Given the description of an element on the screen output the (x, y) to click on. 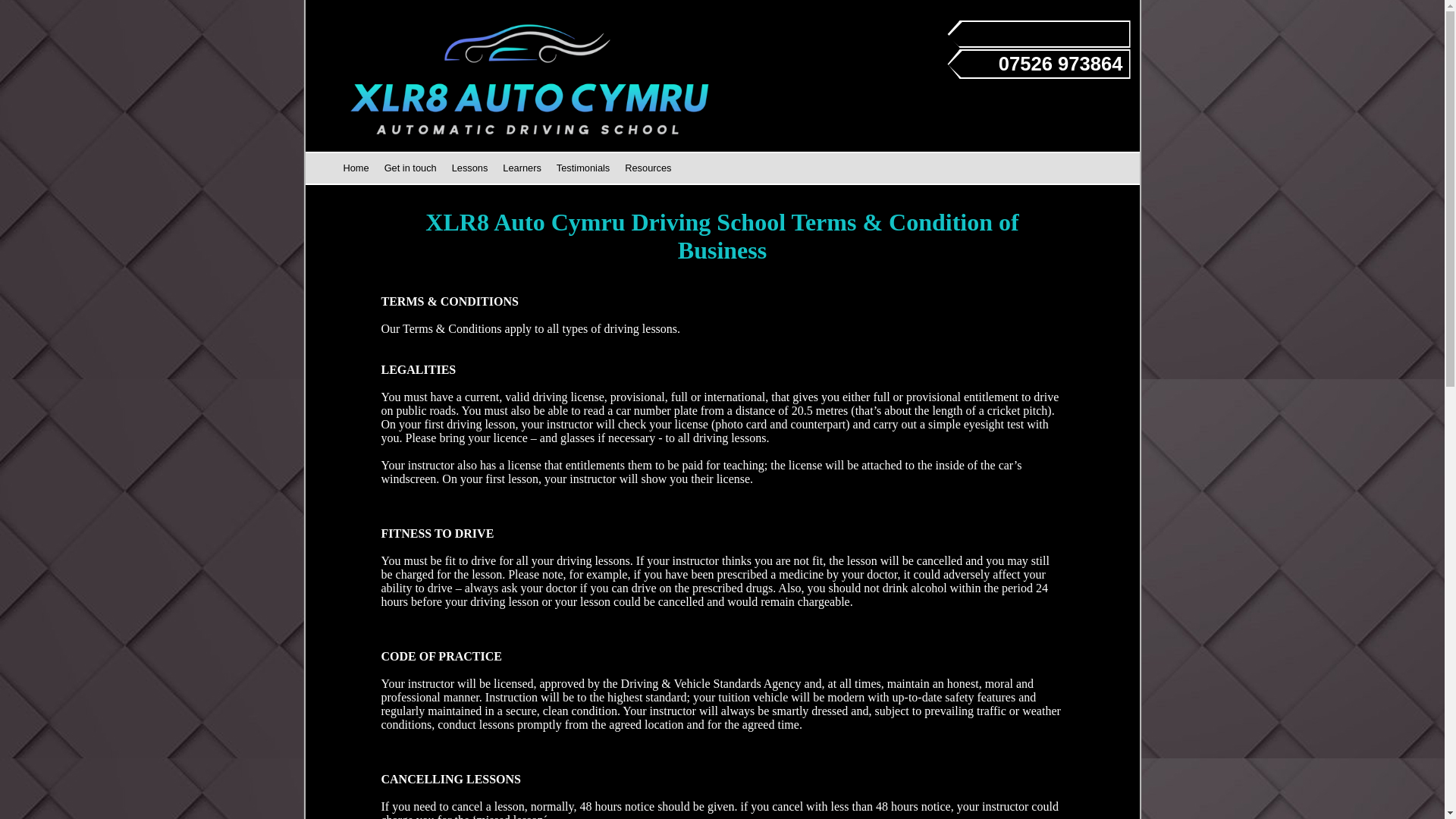
Learners (521, 168)
Lessons (469, 168)
Testimonials (583, 168)
Home (355, 167)
Get in touch (410, 168)
Resources (647, 168)
